Given the description of an element on the screen output the (x, y) to click on. 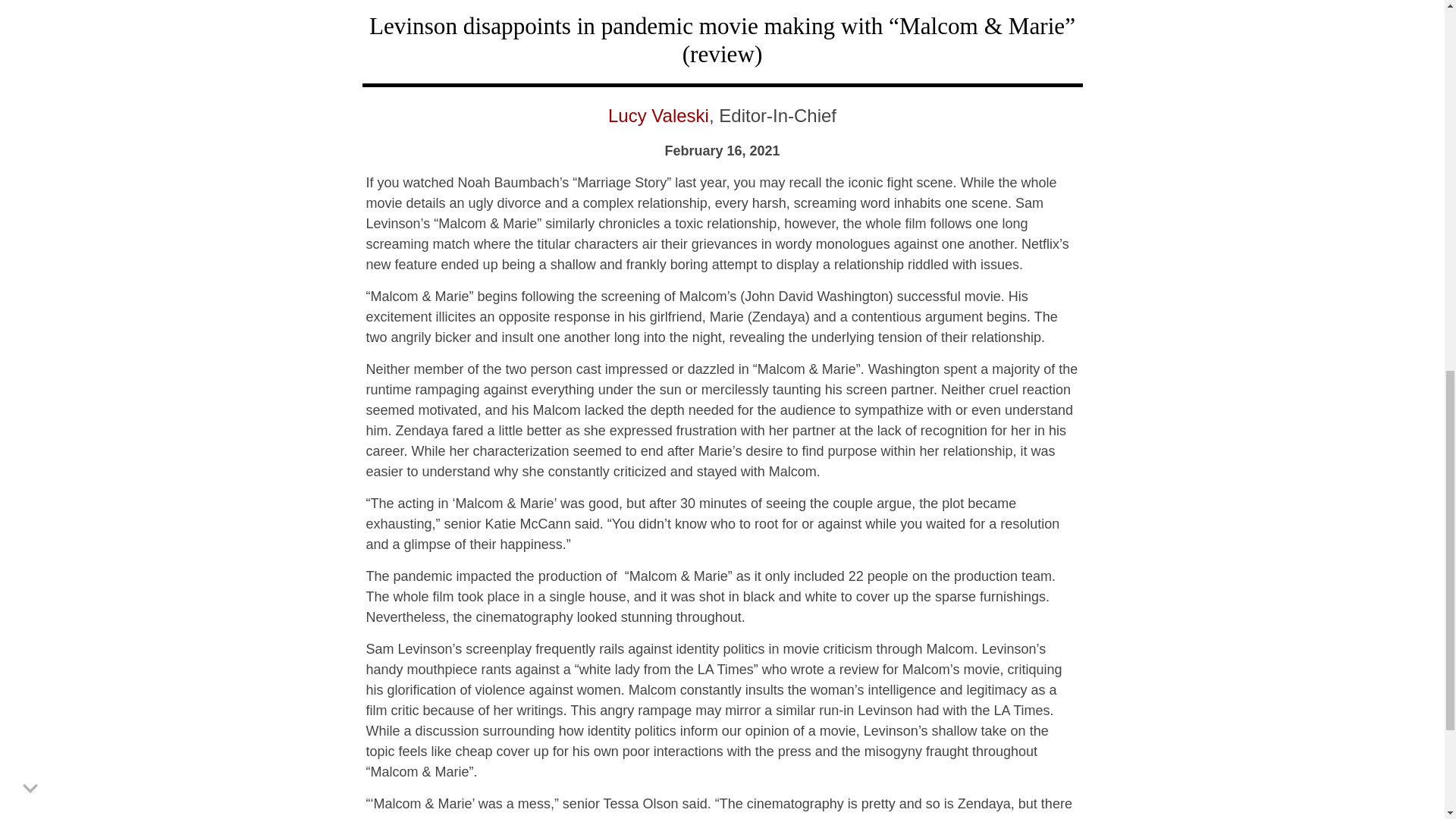
Lucy Valeski (658, 115)
